Given the description of an element on the screen output the (x, y) to click on. 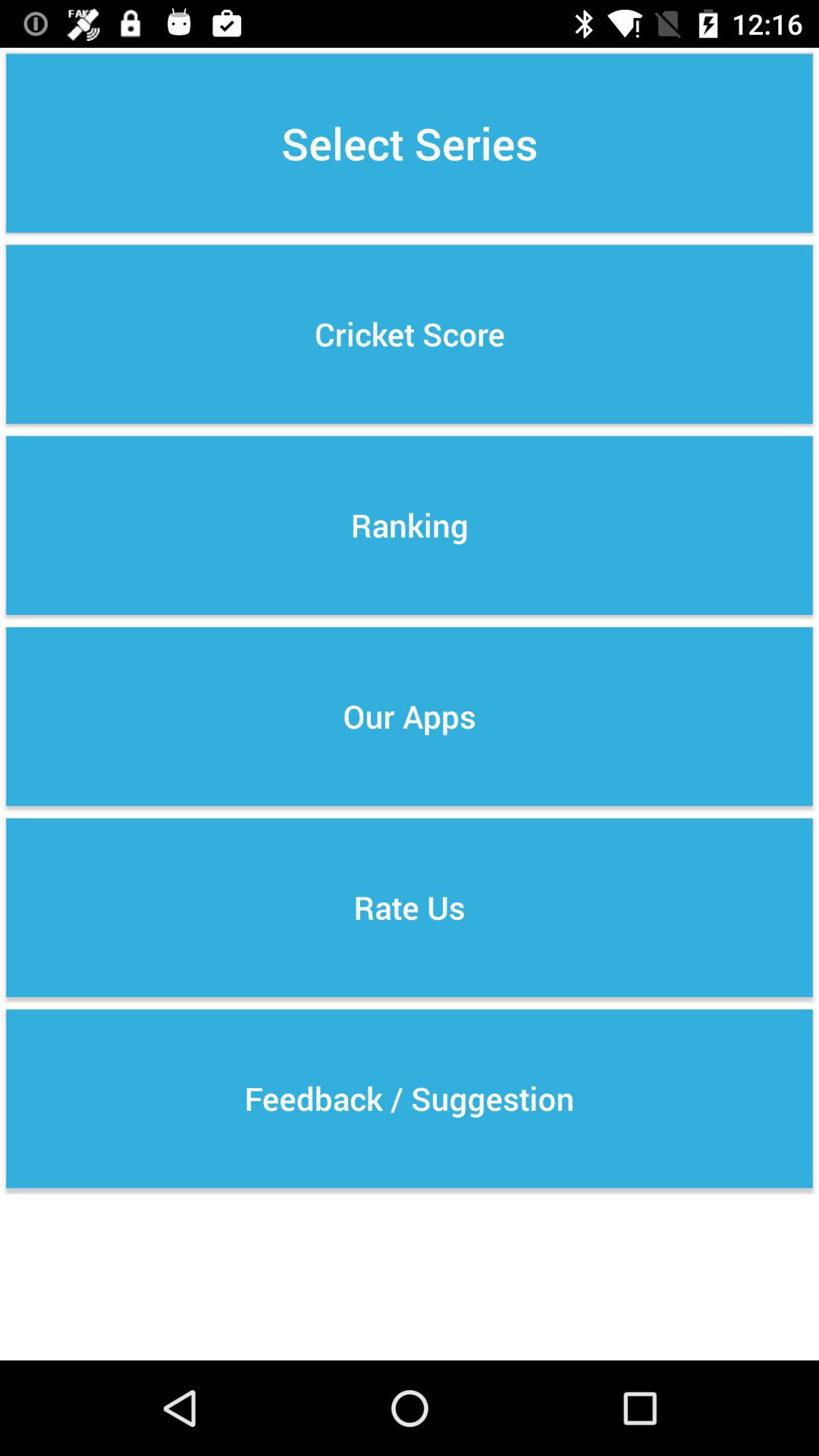
scroll until our apps (409, 716)
